Given the description of an element on the screen output the (x, y) to click on. 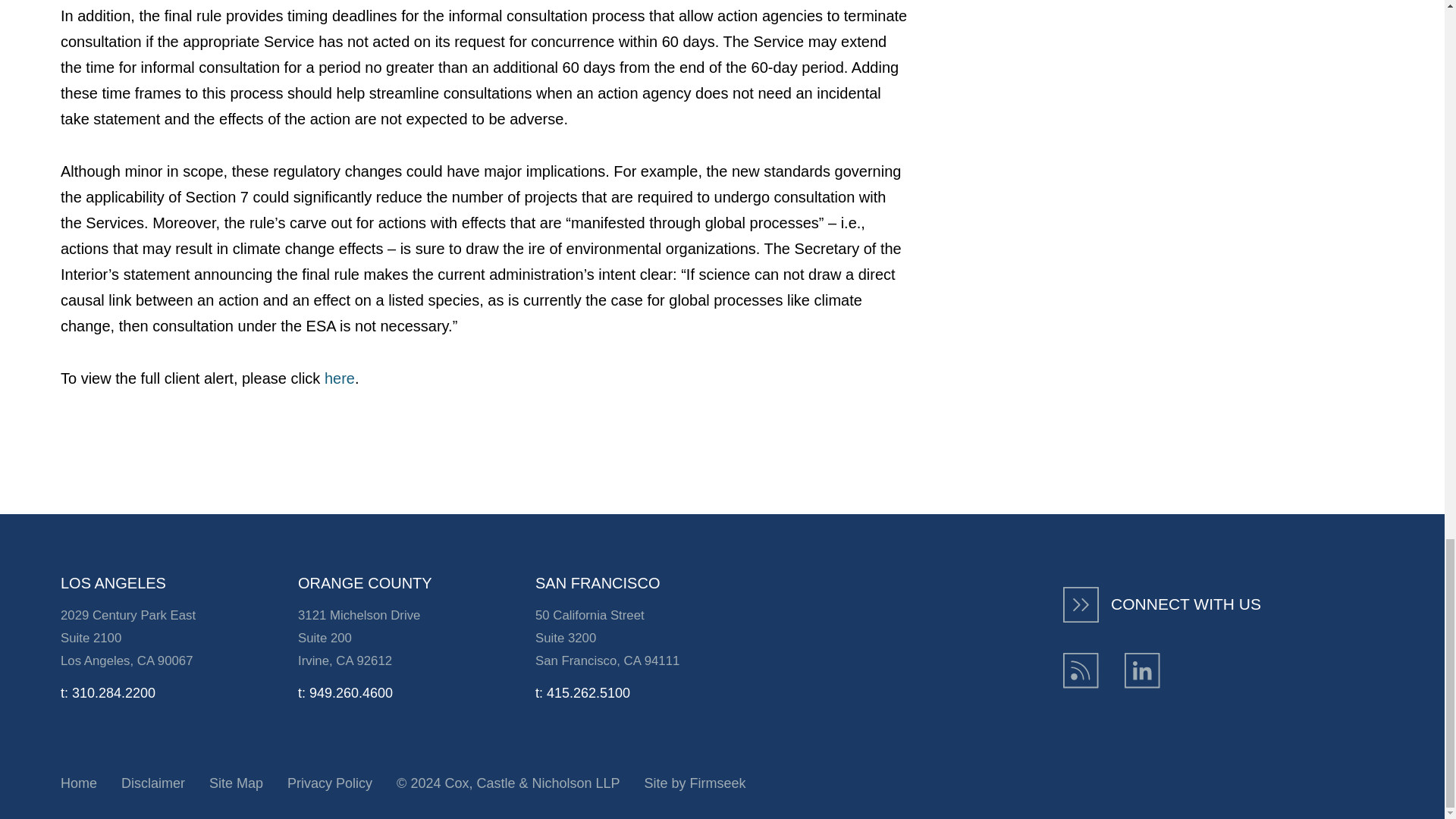
here (339, 378)
LinkedIn (1142, 670)
RSS Icon (1080, 670)
CONNECT (1080, 604)
LinkedIn (1142, 670)
